Given the description of an element on the screen output the (x, y) to click on. 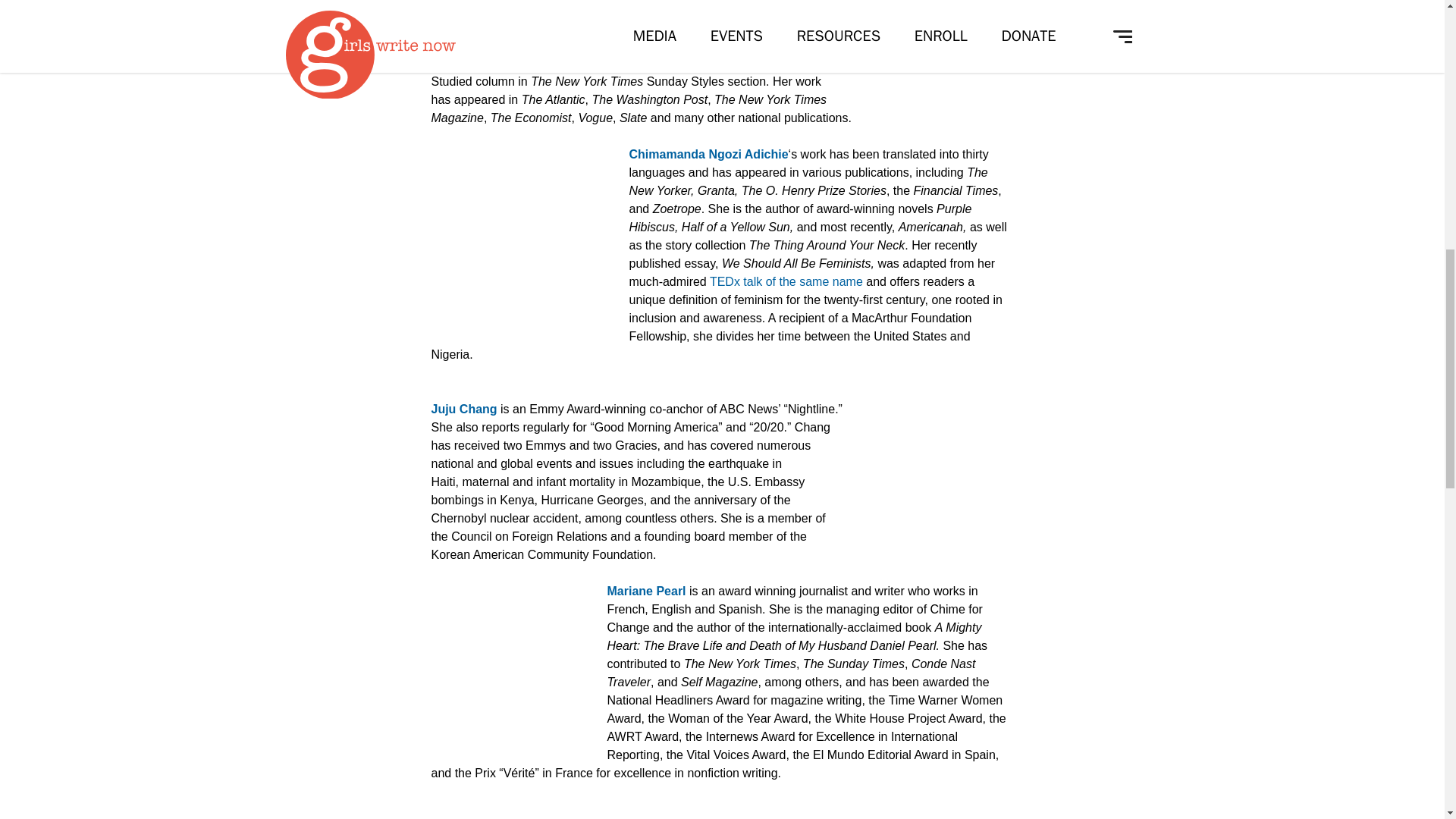
Search (514, 73)
